Given the description of an element on the screen output the (x, y) to click on. 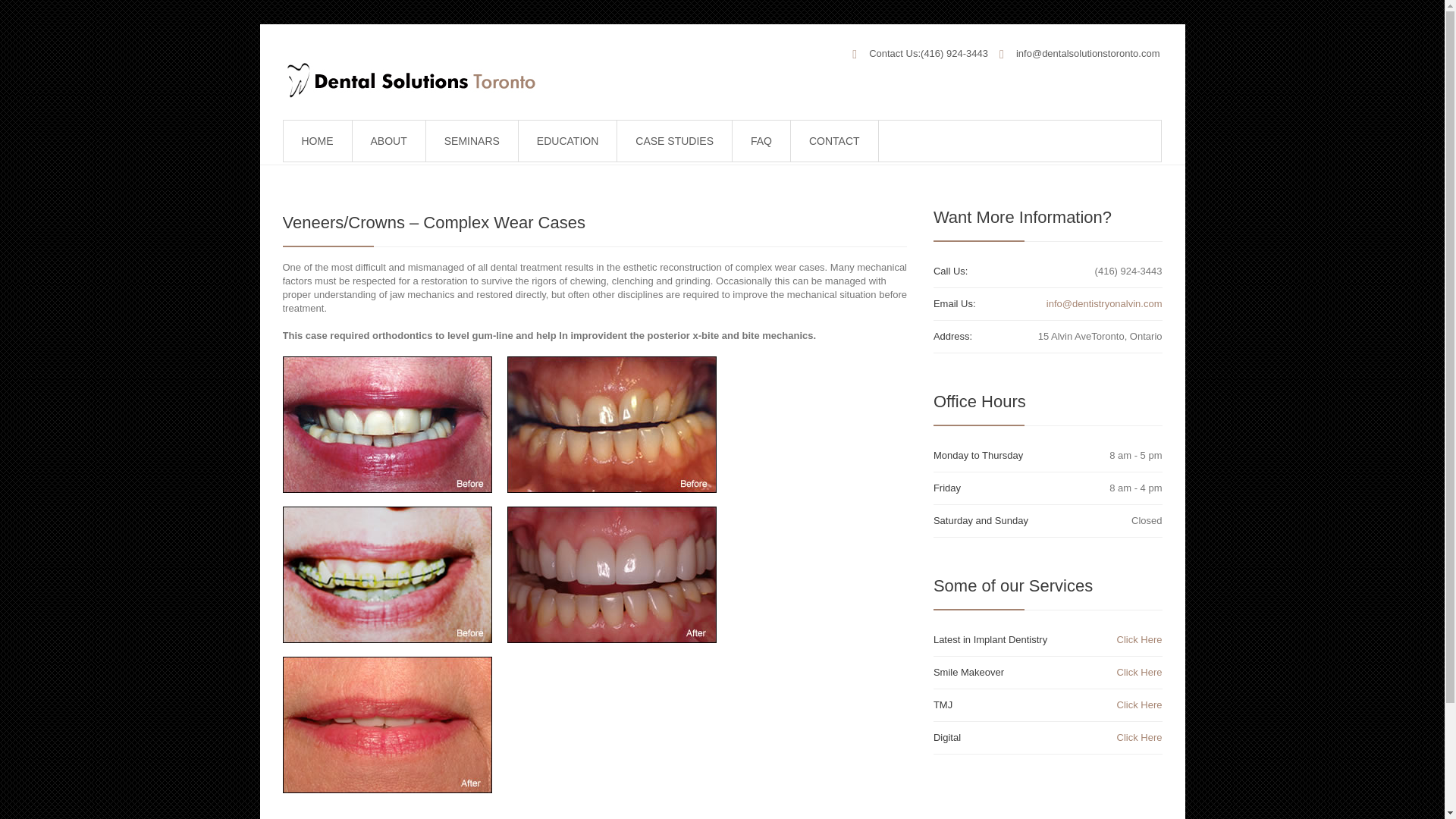
HOME (317, 140)
FAQ (761, 140)
Dental Solutions Toronto (408, 80)
Click Here (1138, 639)
Click Here (1138, 672)
Click Here (1138, 737)
EDUCATION (567, 140)
CONTACT (834, 140)
Click Here (1138, 704)
ABOUT (389, 140)
SEMINARS (471, 140)
CASE STUDIES (673, 140)
